Given the description of an element on the screen output the (x, y) to click on. 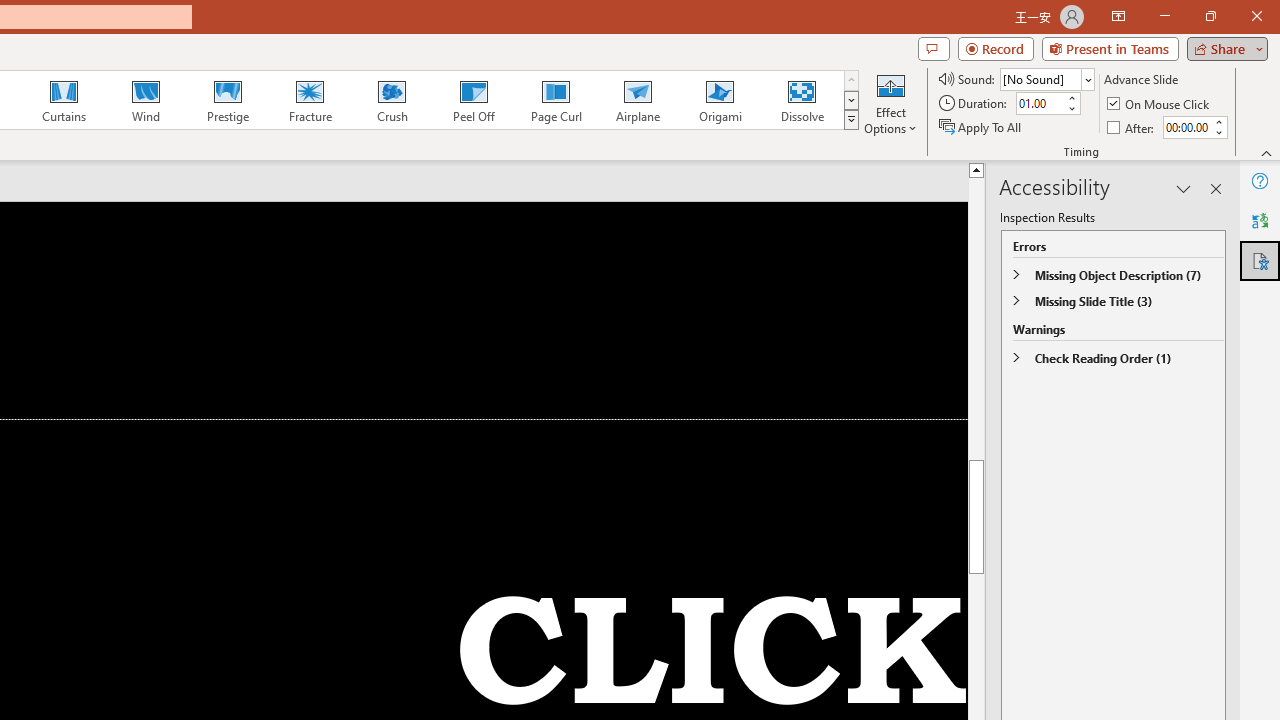
After (1131, 126)
Page Curl (555, 100)
Fracture (309, 100)
Prestige (227, 100)
Apply To All (981, 126)
